Given the description of an element on the screen output the (x, y) to click on. 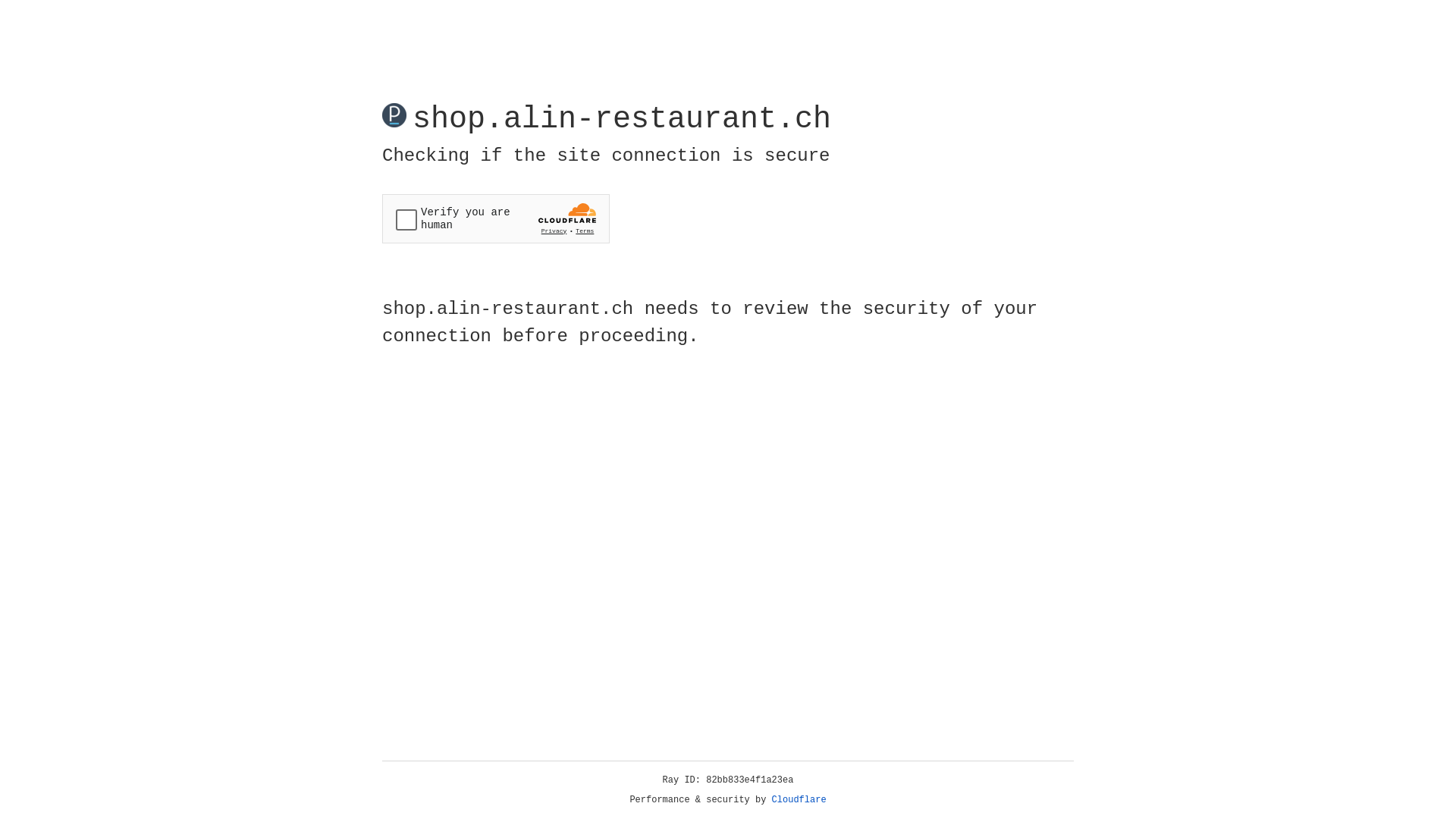
Widget containing a Cloudflare security challenge Element type: hover (495, 218)
Cloudflare Element type: text (798, 799)
